Given the description of an element on the screen output the (x, y) to click on. 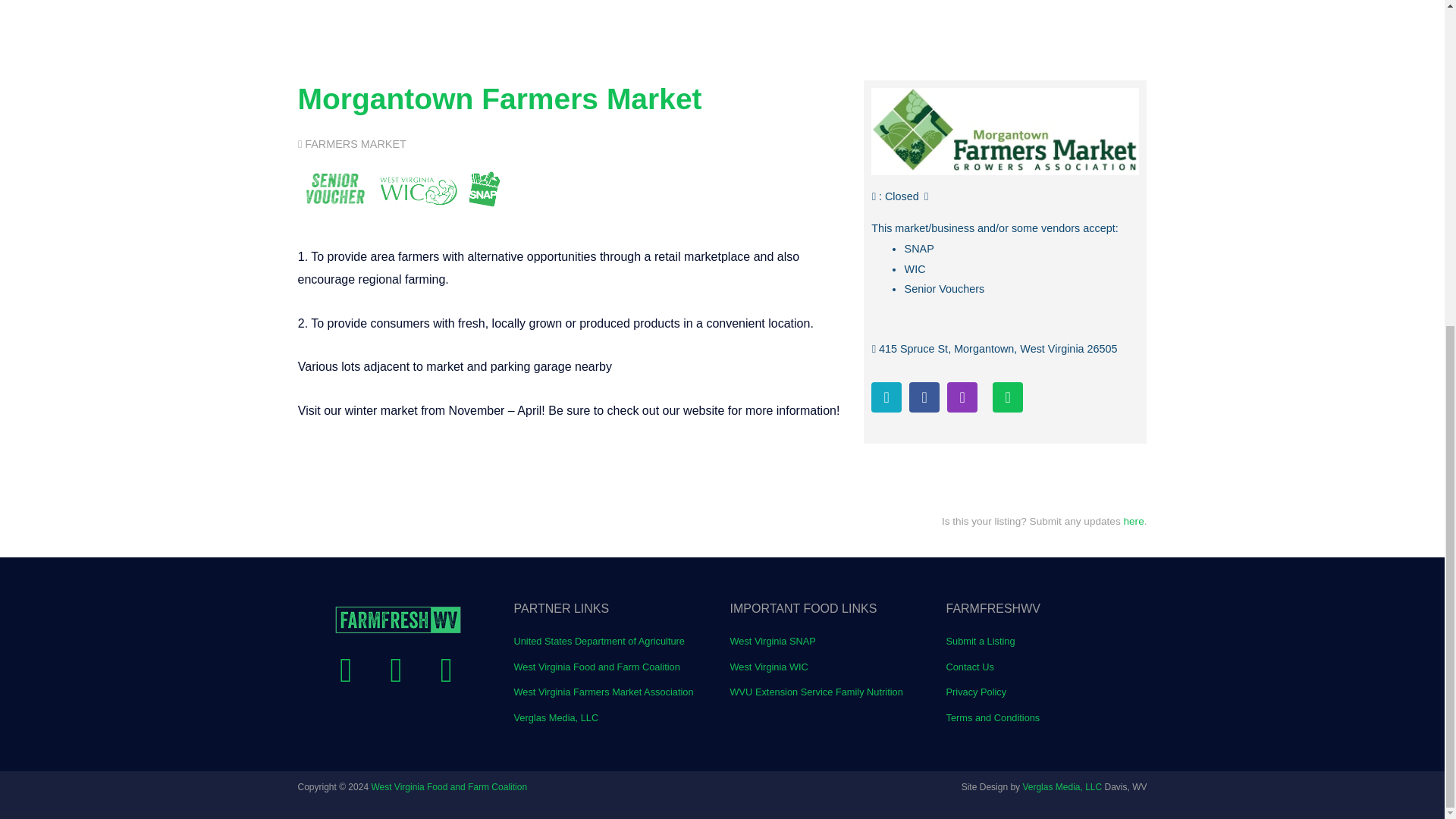
Instagram (961, 397)
Envelope (1007, 397)
FARMERS MARKET (355, 143)
Expand opening hours (908, 196)
Facebook (923, 397)
here (1134, 521)
Link (885, 397)
